Given the description of an element on the screen output the (x, y) to click on. 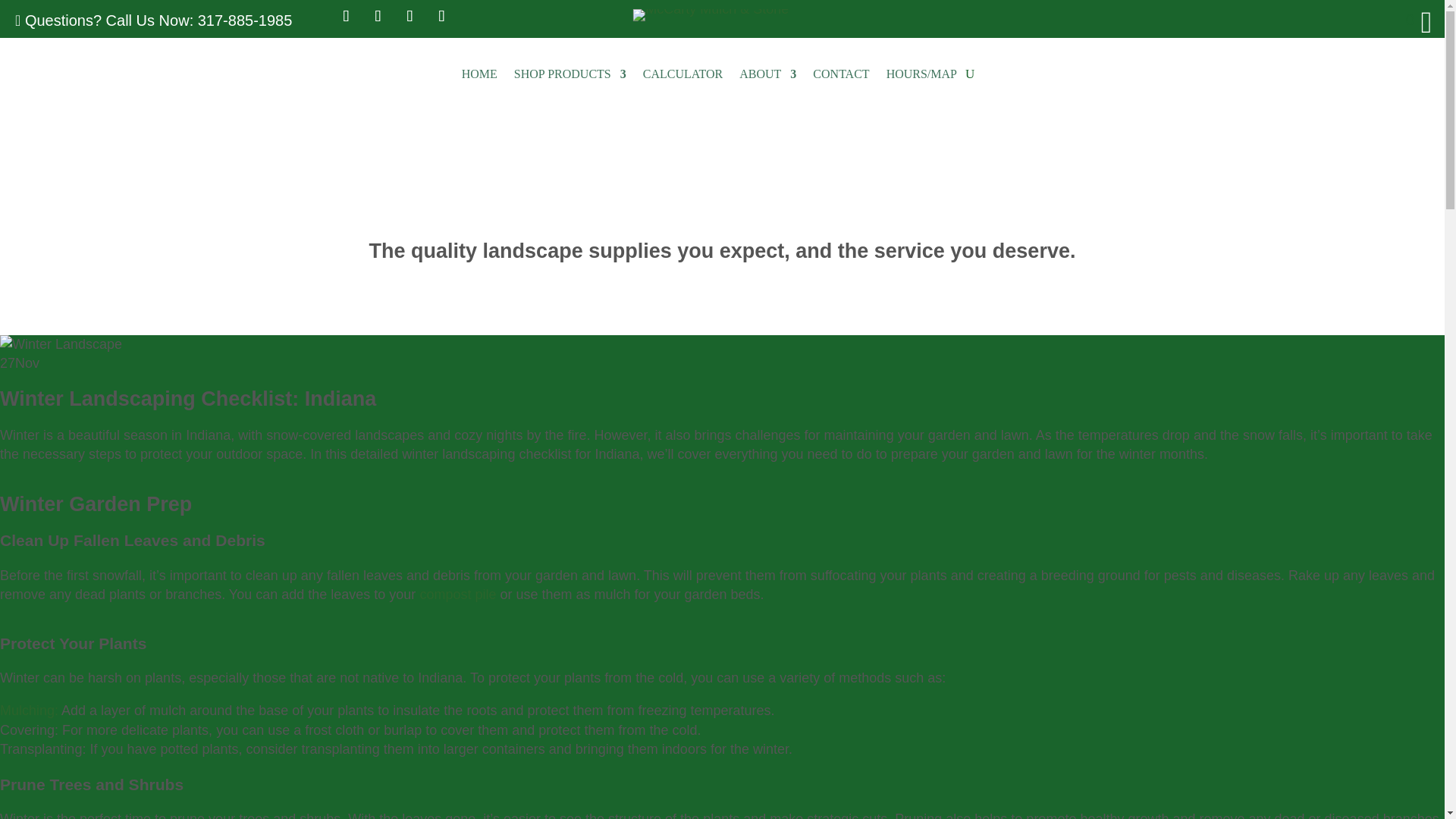
CONTACT (840, 74)
Follow on Instagram (409, 15)
Call Us Now: 317-885-1985 (199, 20)
CALCULATOR (683, 74)
0 (1401, 19)
Follow on Facebook (345, 15)
SHOP PRODUCTS (569, 74)
Follow on Youtube (441, 15)
ABOUT (767, 74)
Follow on X (377, 15)
